Given the description of an element on the screen output the (x, y) to click on. 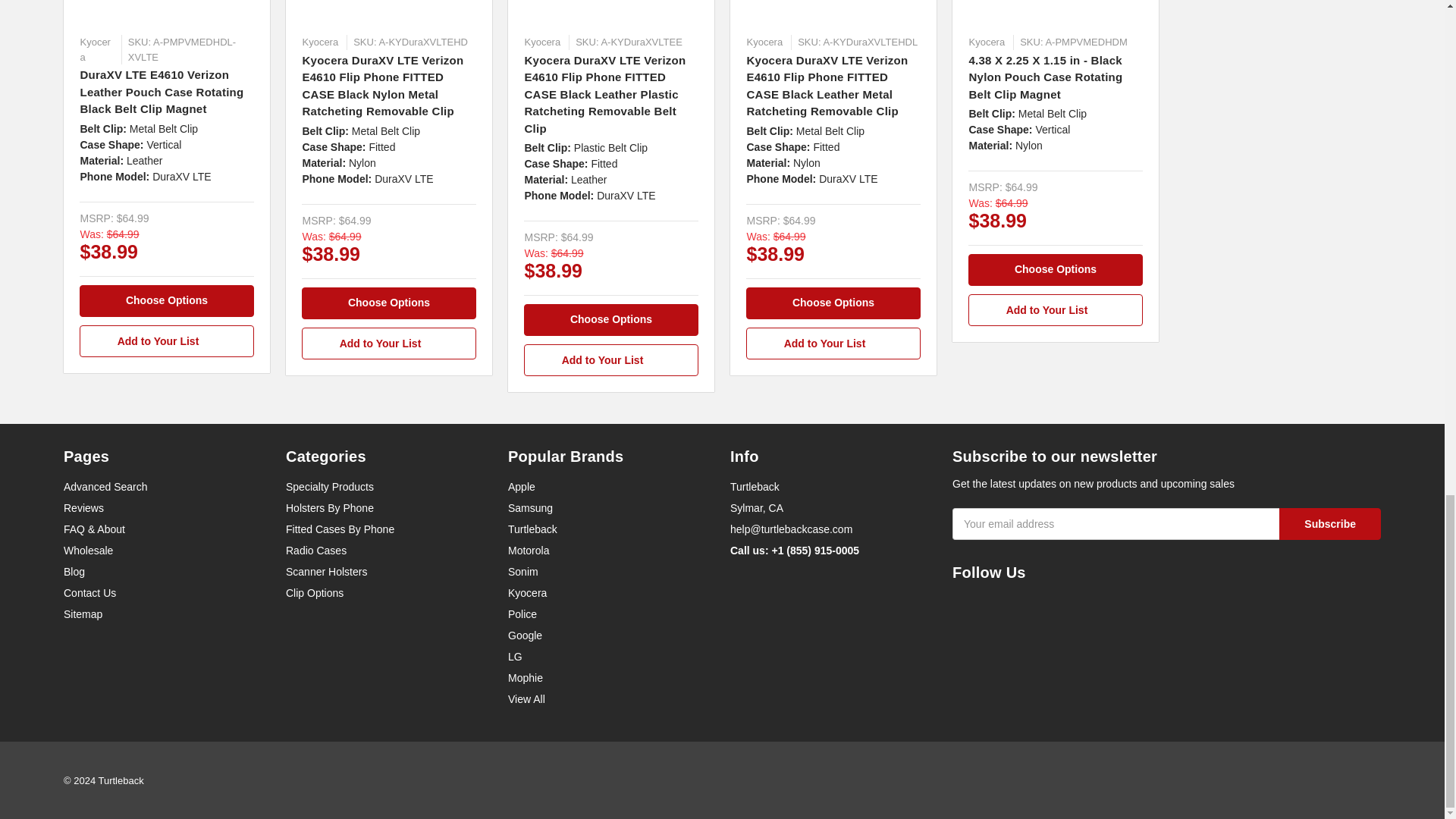
Add to Your List (388, 343)
Add to Your List (166, 341)
Add to Your List (610, 359)
Subscribe (1329, 523)
